Given the description of an element on the screen output the (x, y) to click on. 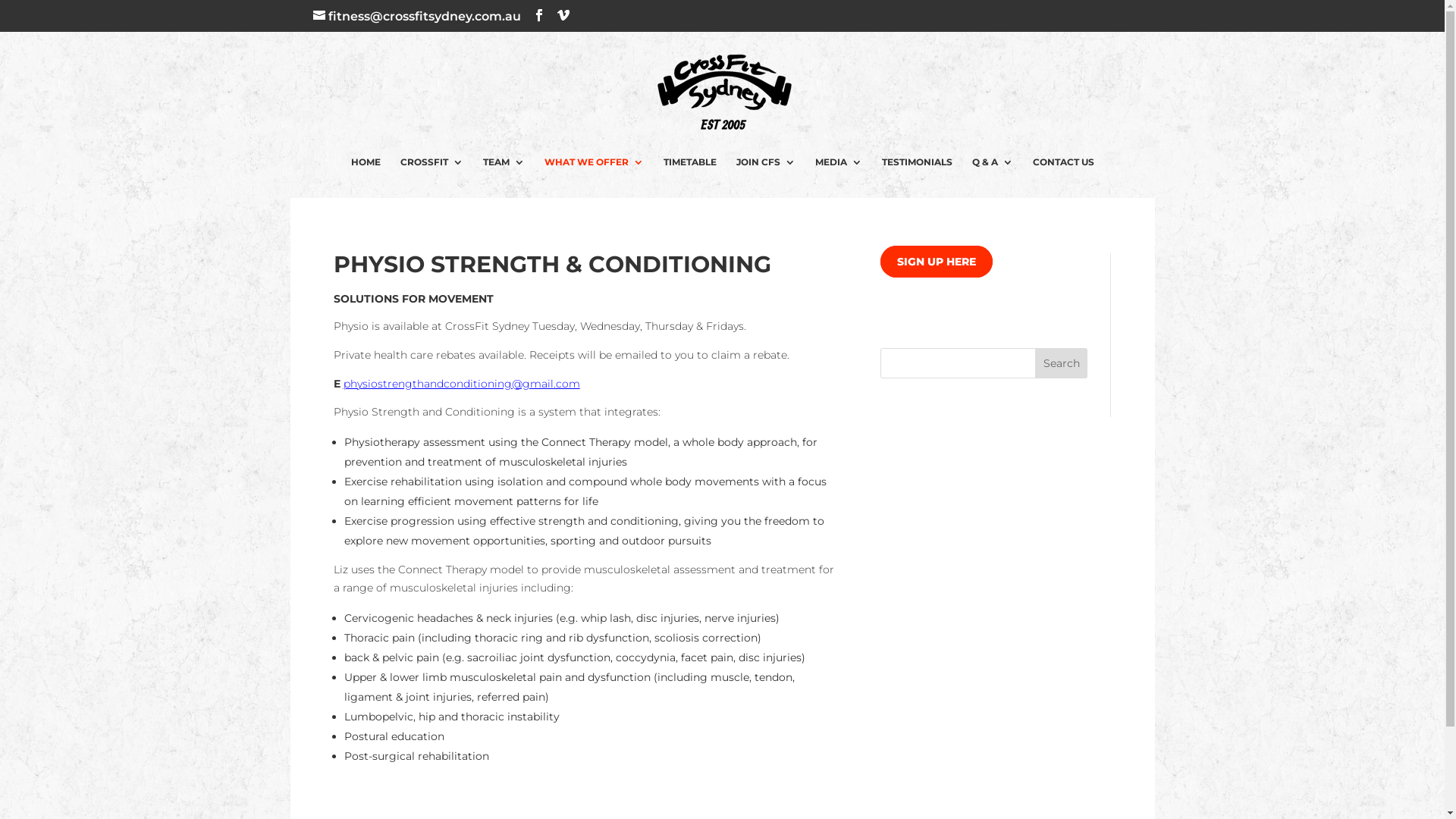
physiostrengthandconditioning@gmail.com Element type: text (460, 383)
CONTACT US Element type: text (1063, 165)
Search Element type: text (1061, 363)
Q & A Element type: text (992, 165)
WHAT WE OFFER Element type: text (593, 165)
JOIN CFS Element type: text (764, 165)
PHYSIO STRENGTH & CONDITIONING Element type: text (552, 264)
TEAM Element type: text (503, 165)
SIGN UP HERE Element type: text (936, 261)
TIMETABLE Element type: text (688, 165)
fitness@crossfitsydney.com.au Element type: text (416, 16)
MEDIA Element type: text (837, 165)
CROSSFIT Element type: text (431, 165)
TESTIMONIALS Element type: text (916, 165)
HOME Element type: text (364, 165)
